Given the description of an element on the screen output the (x, y) to click on. 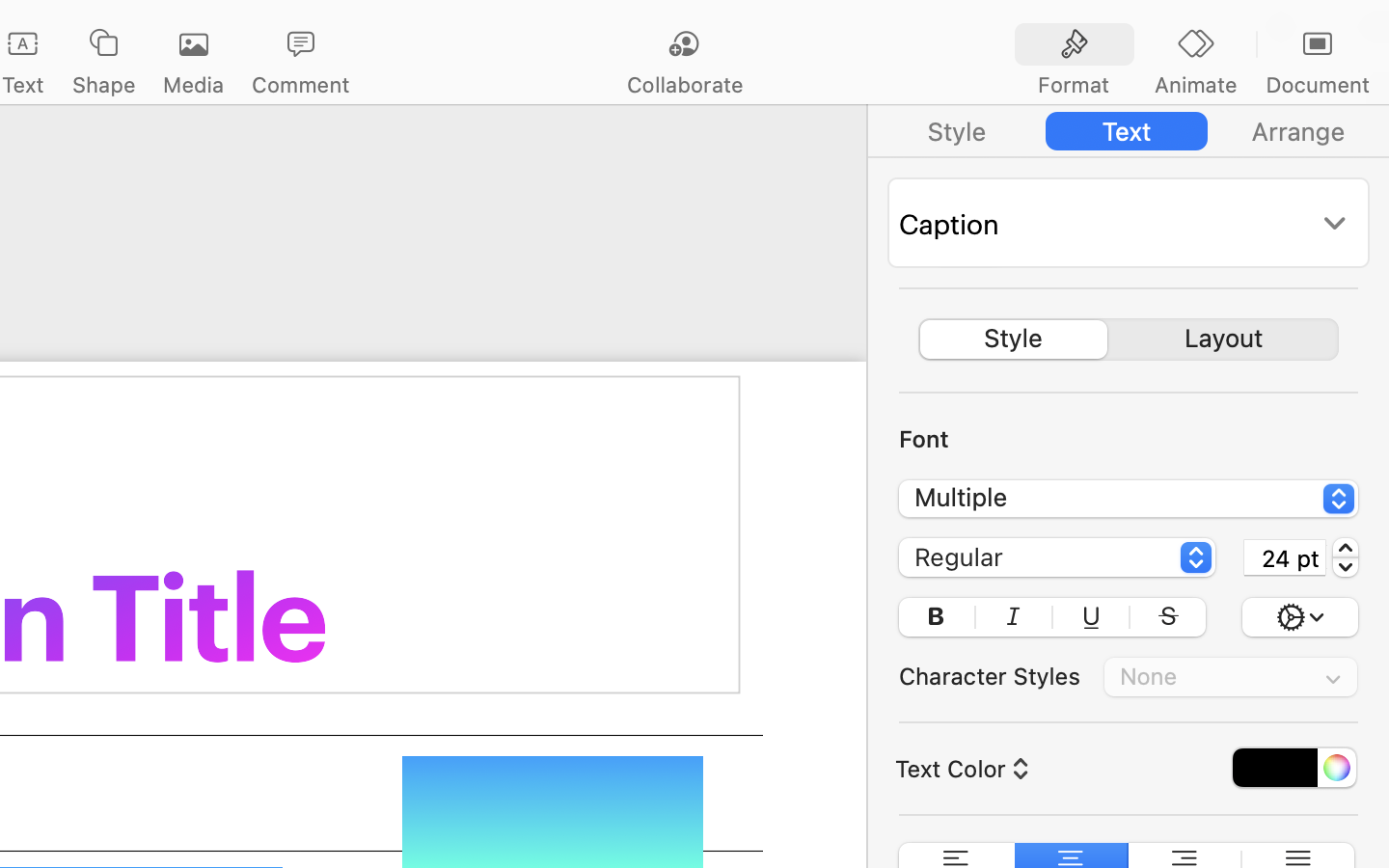
Regular Element type: AXPopUpButton (1058, 560)
Untitled Element type: AXStaticText (81, 24)
Format Element type: AXStaticText (1073, 84)
